Given the description of an element on the screen output the (x, y) to click on. 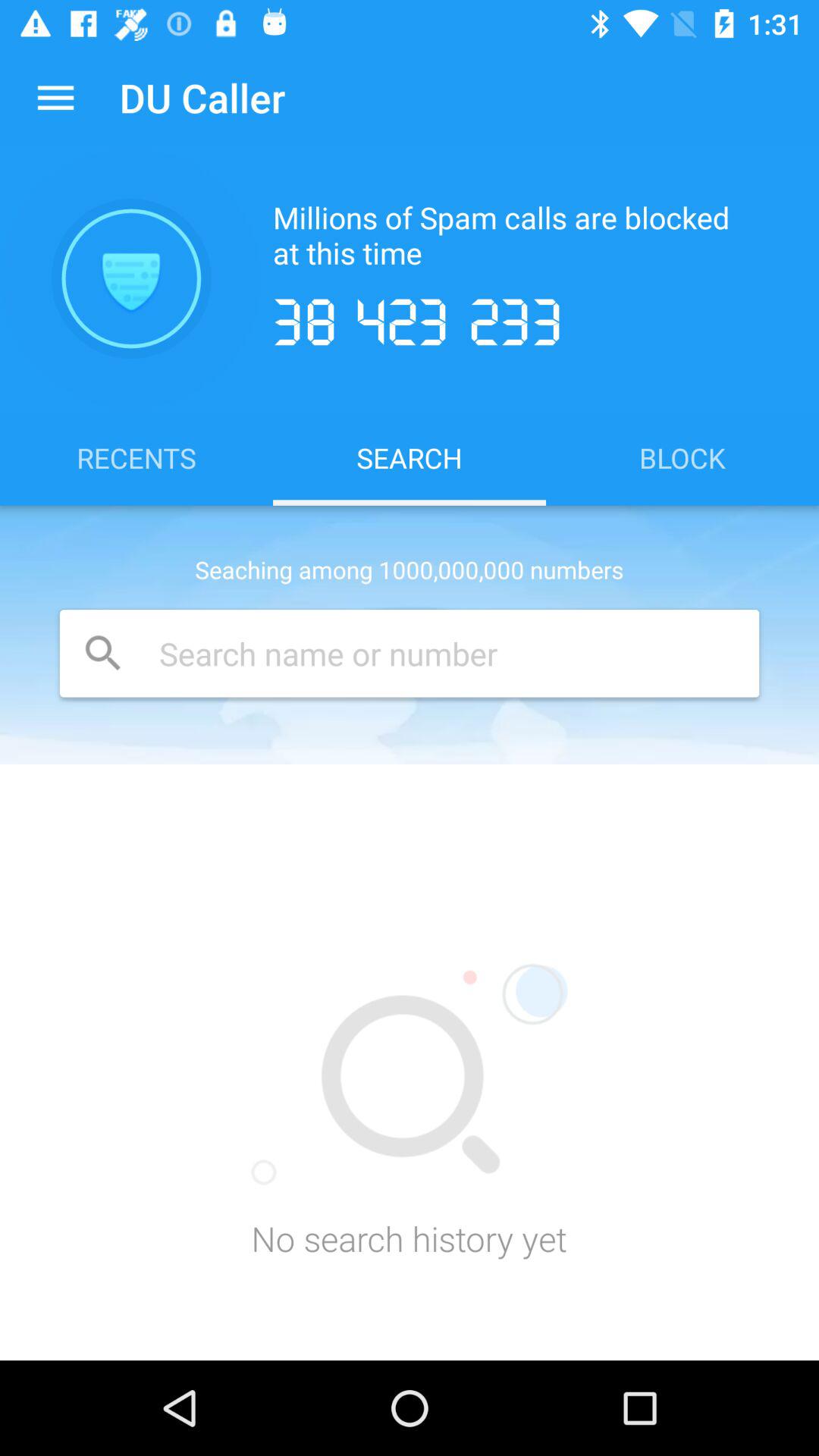
tap item next to search (136, 457)
